Given the description of an element on the screen output the (x, y) to click on. 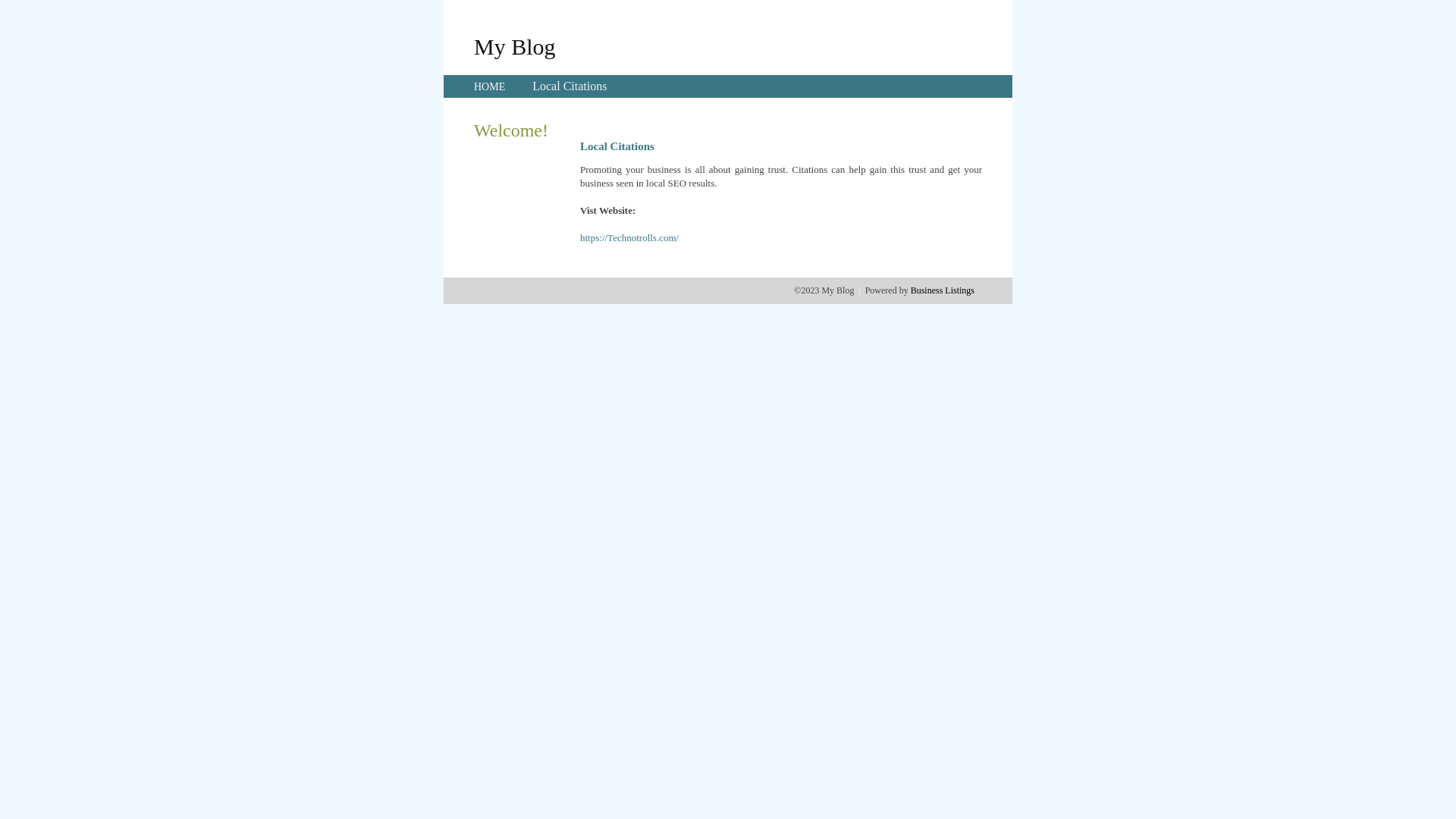
Business Listings Element type: text (942, 290)
HOME Element type: text (489, 86)
https://Technotrolls.com/ Element type: text (629, 237)
Local Citations Element type: text (569, 85)
My Blog Element type: text (514, 46)
